Given the description of an element on the screen output the (x, y) to click on. 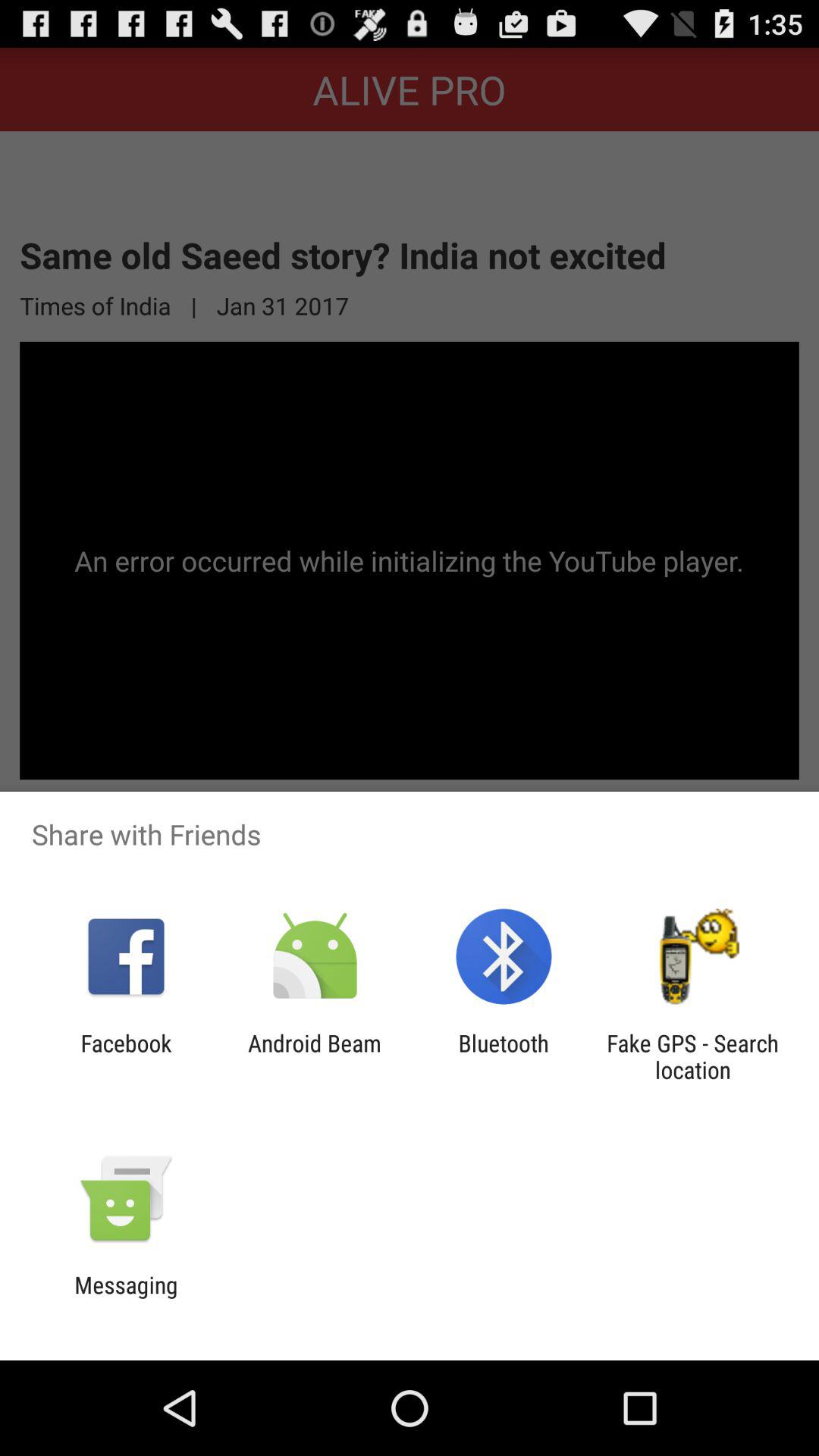
jump until messaging app (126, 1298)
